Given the description of an element on the screen output the (x, y) to click on. 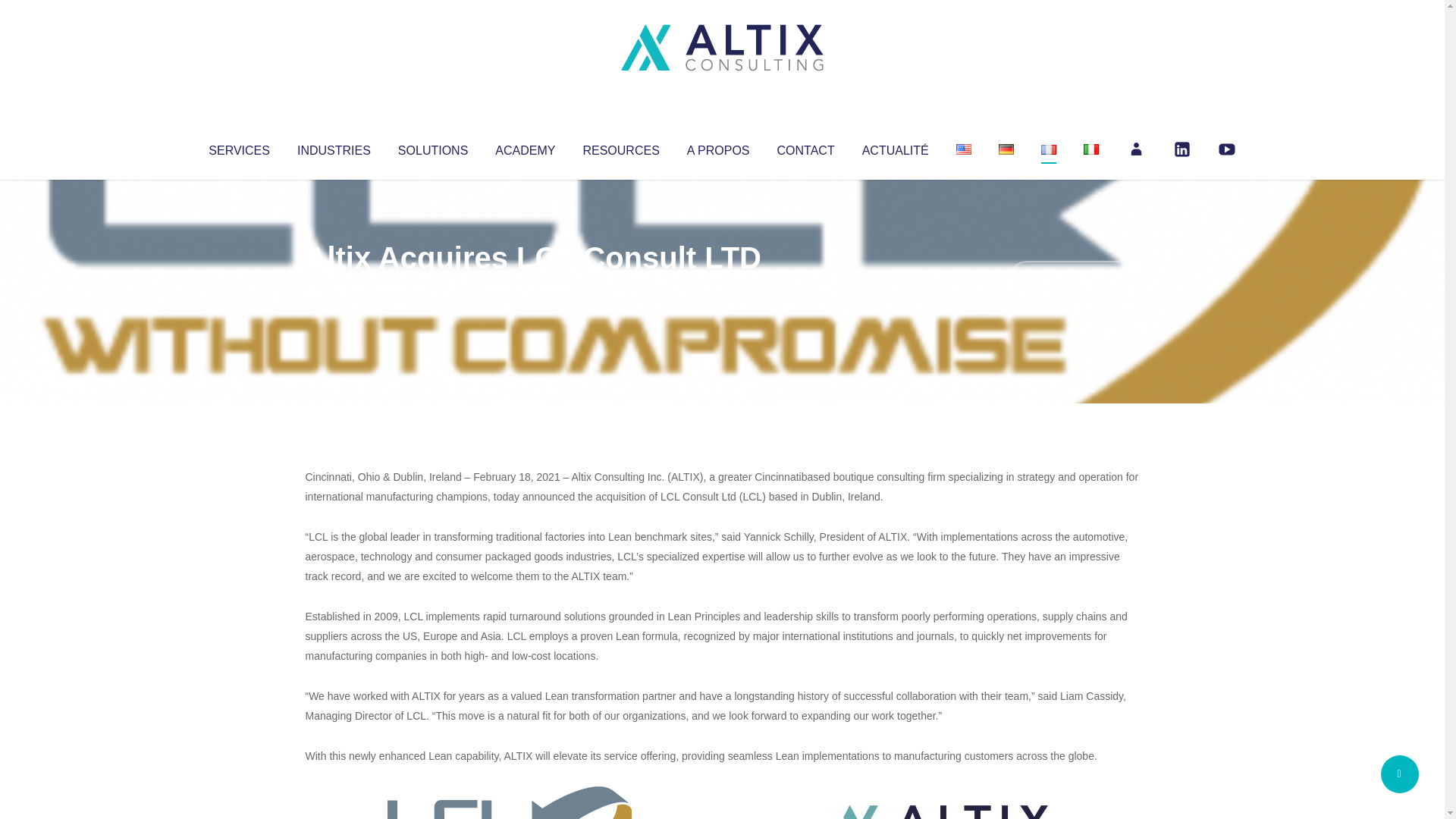
Articles par Altix (333, 287)
Altix (333, 287)
ACADEMY (524, 146)
A PROPOS (718, 146)
Uncategorized (530, 287)
SOLUTIONS (432, 146)
INDUSTRIES (334, 146)
No Comments (1073, 278)
RESOURCES (620, 146)
SERVICES (238, 146)
